Given the description of an element on the screen output the (x, y) to click on. 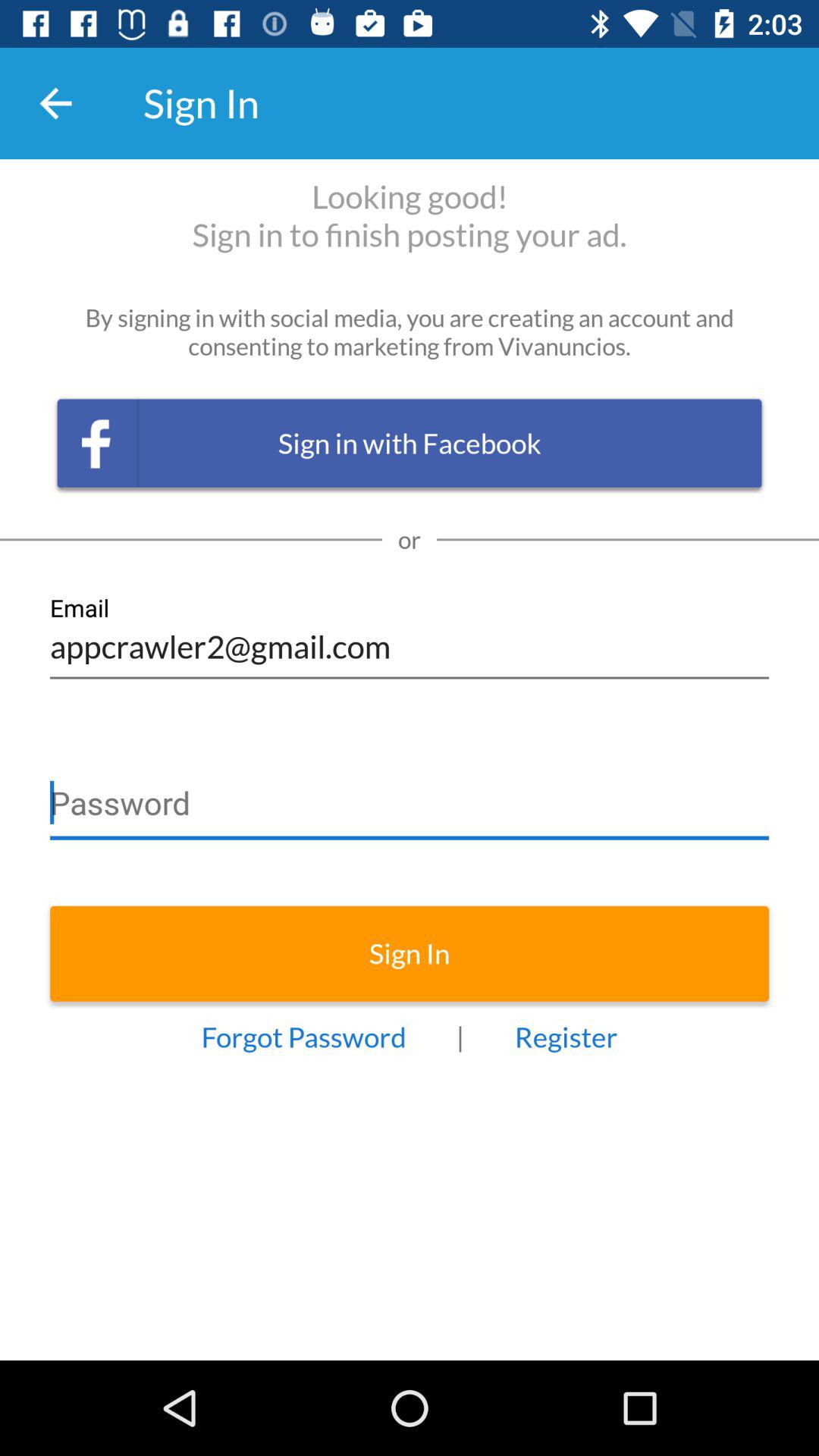
click the register icon (565, 1036)
